Given the description of an element on the screen output the (x, y) to click on. 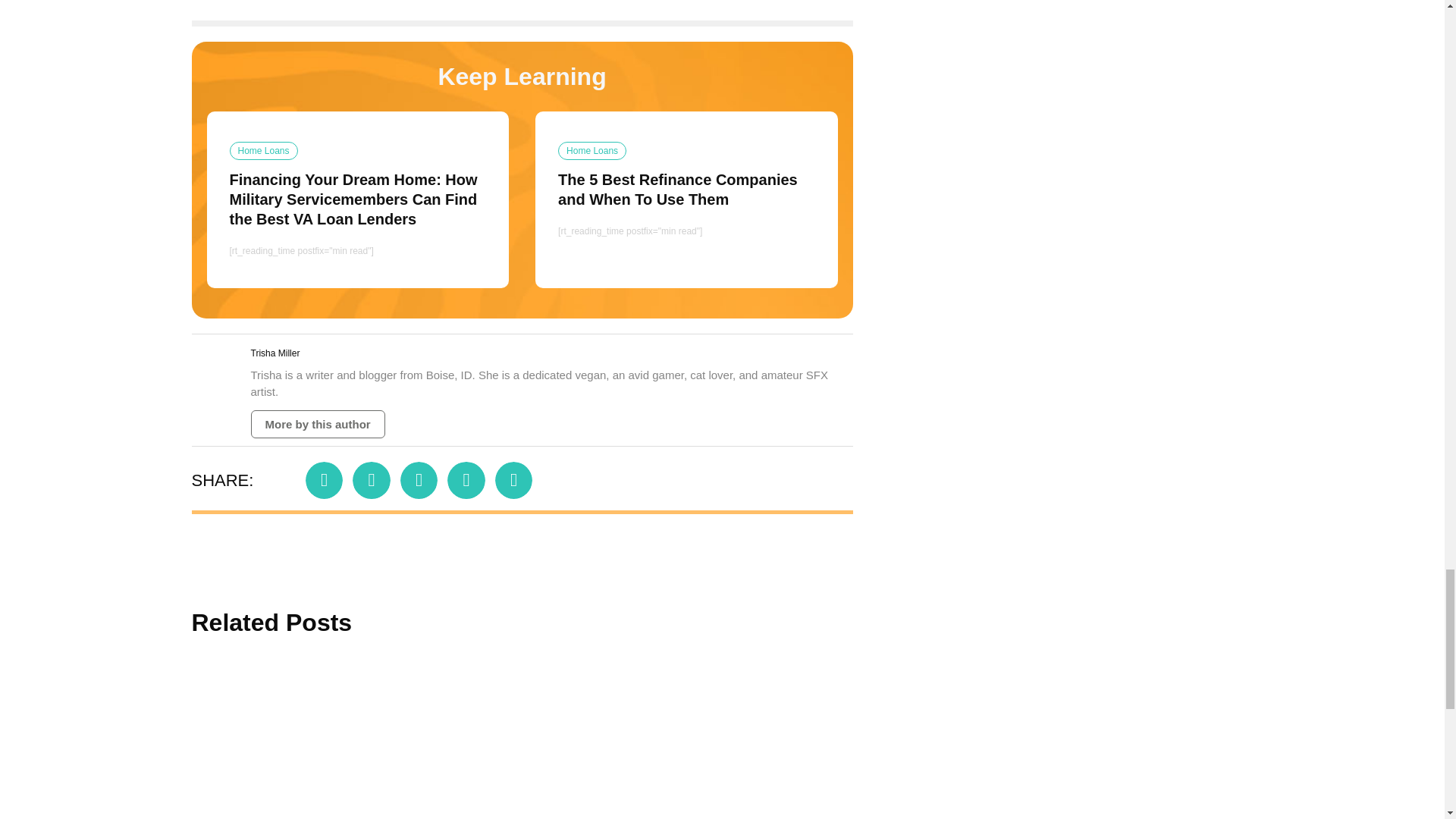
Is Flagstar a Good Bank? (1129, 738)
Quicken Loans Mortgage Review (857, 738)
The 5 Best Refinance Companies and When To Use Them (586, 738)
